Given the description of an element on the screen output the (x, y) to click on. 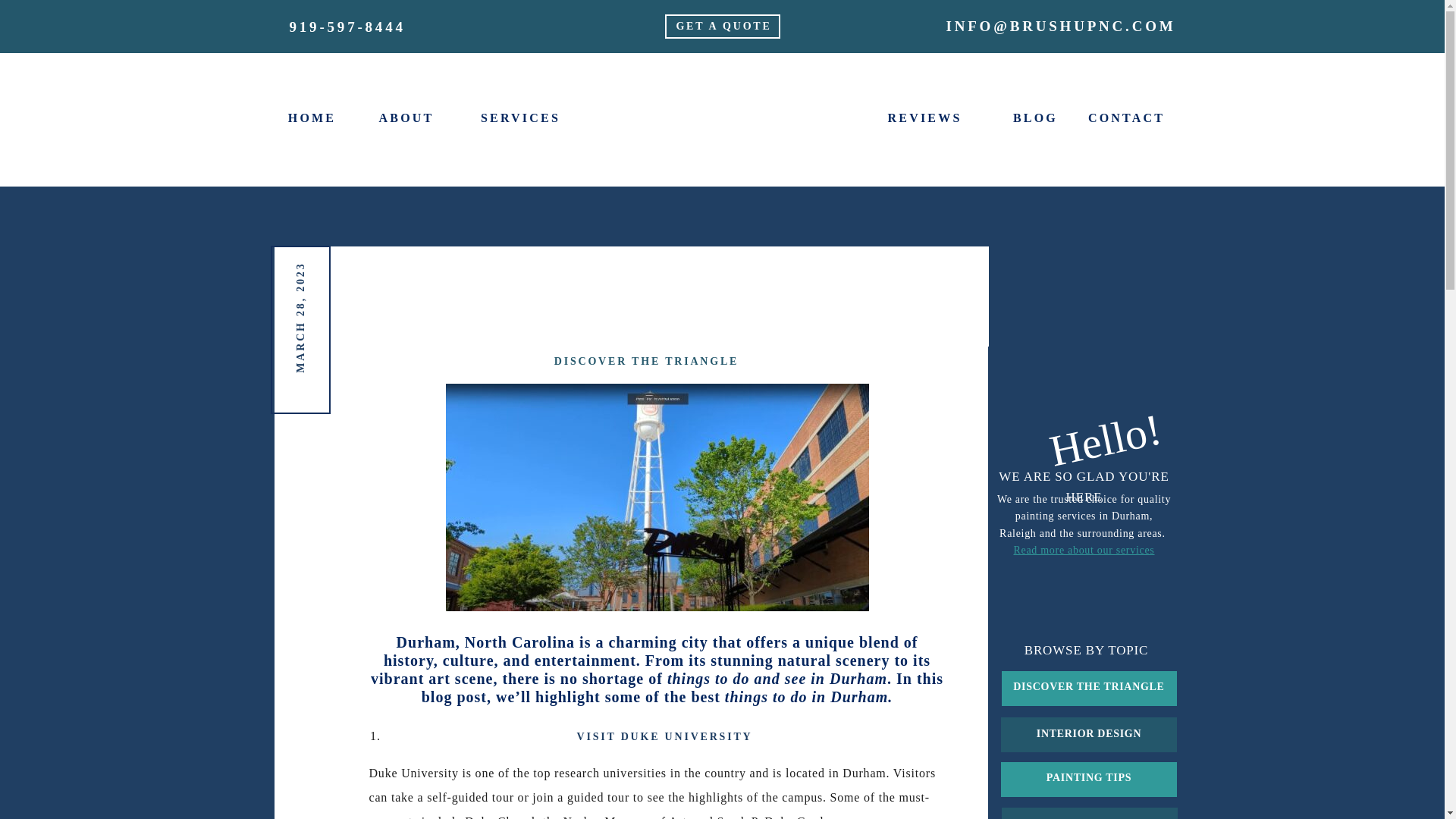
BLOG (1035, 116)
CONTACT (1125, 116)
SERVICES (521, 116)
REVIEWS (924, 116)
DISCOVER THE TRIANGLE (646, 360)
DISCOVER THE TRIANGLE (1089, 687)
HOME MAINTENANCE (1094, 812)
ABOUT (405, 116)
HOME (312, 116)
GET A QUOTE (723, 26)
